Given the description of an element on the screen output the (x, y) to click on. 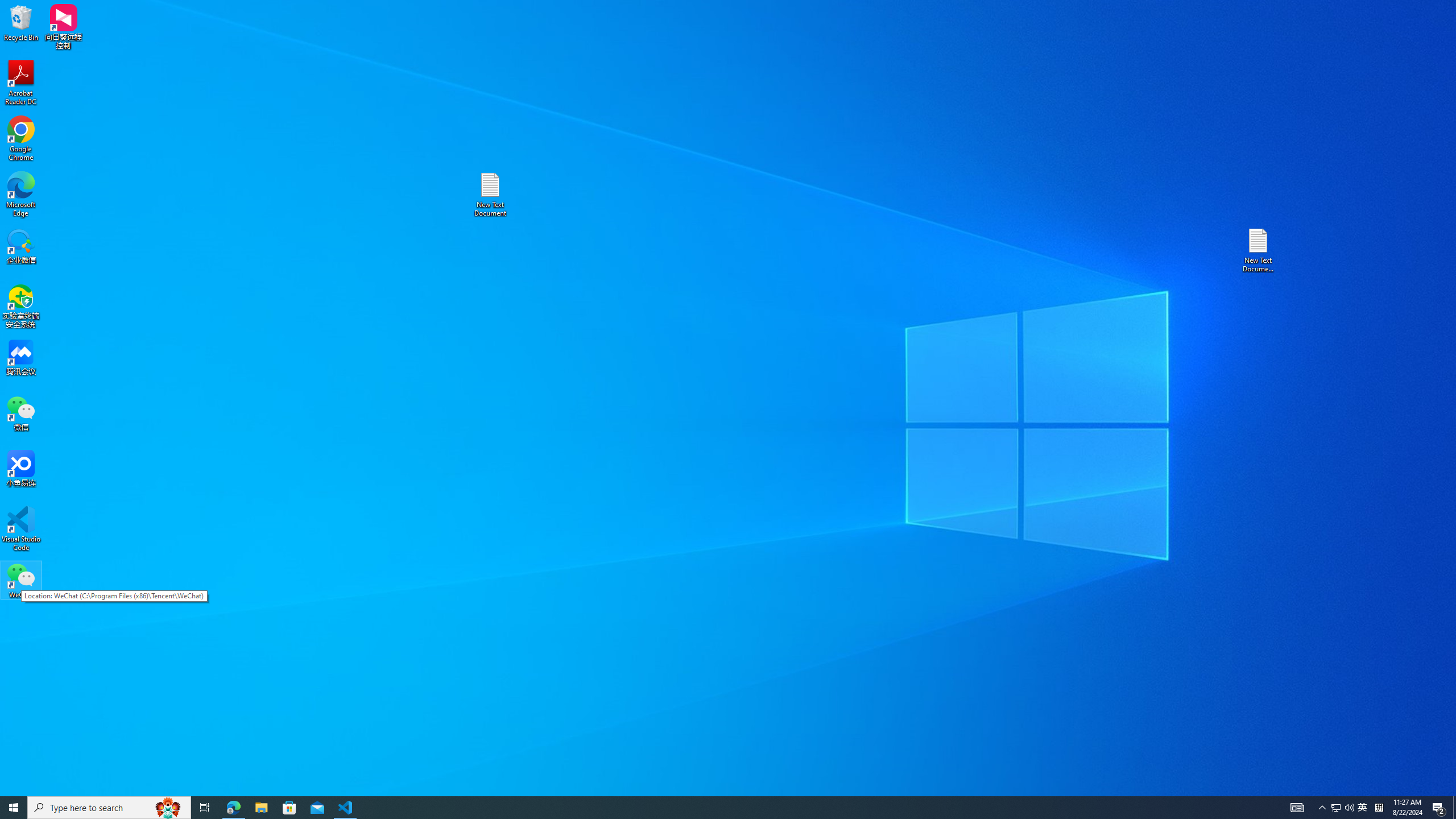
User Promoted Notification Area (1342, 807)
Task View (204, 807)
File Explorer (261, 807)
Tray Input Indicator - Chinese (Simplified, China) (1378, 807)
Running applications (707, 807)
AutomationID: 4105 (1297, 807)
Action Center, 2 new notifications (1439, 807)
Recycle Bin (21, 22)
WeChat (21, 580)
Visual Studio Code (21, 528)
Visual Studio Code - 1 running window (345, 807)
Microsoft Store (289, 807)
